Given the description of an element on the screen output the (x, y) to click on. 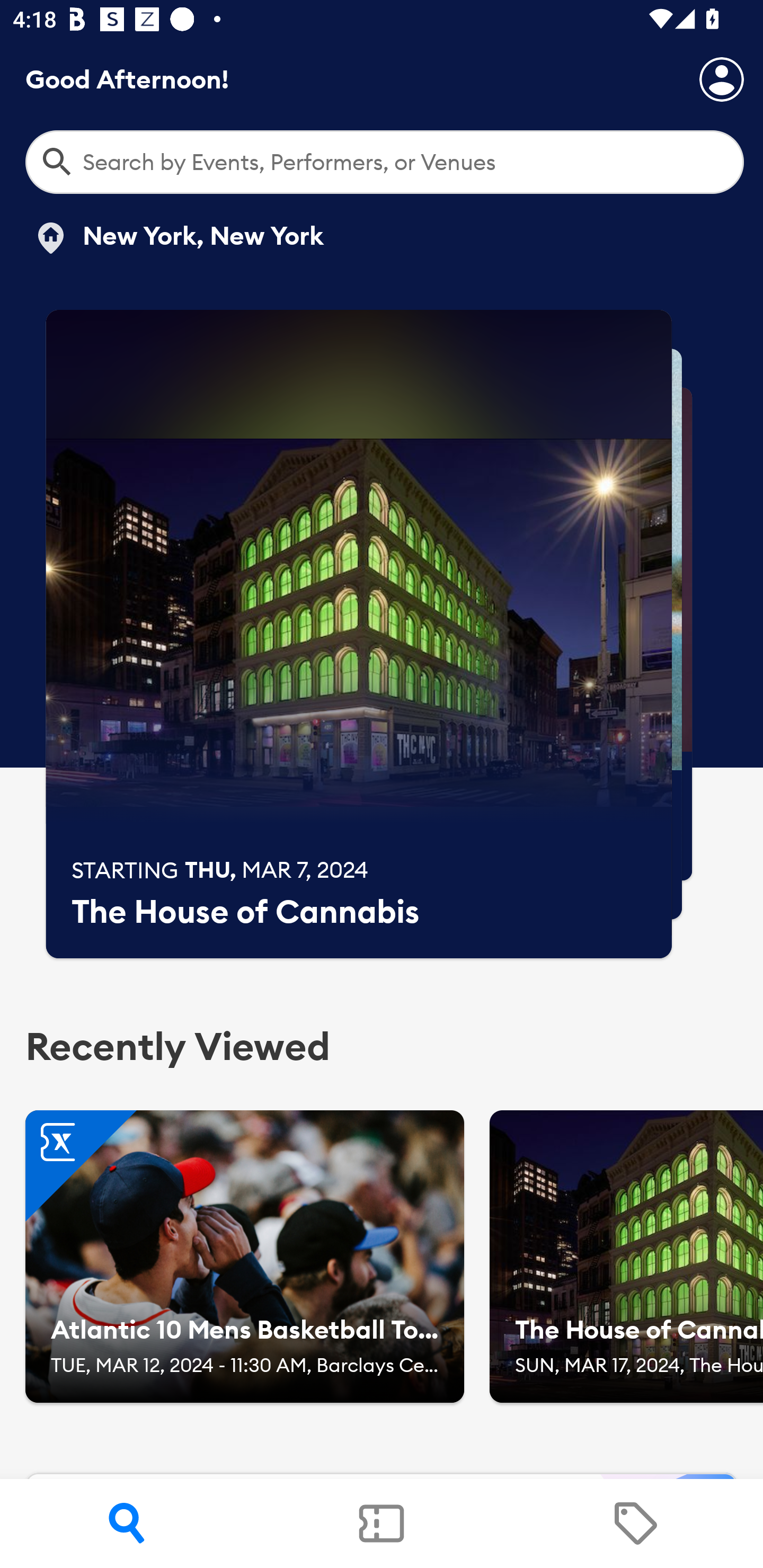
UserIcon (721, 78)
Search by Events, Performers, or Venues (384, 161)
New York, New York (177, 237)
STARTING THU, MAR 7, 2024 The House of Cannabis (358, 634)
Menu Item: Tickets (381, 1523)
Menu Item: Resale (635, 1523)
